Given the description of an element on the screen output the (x, y) to click on. 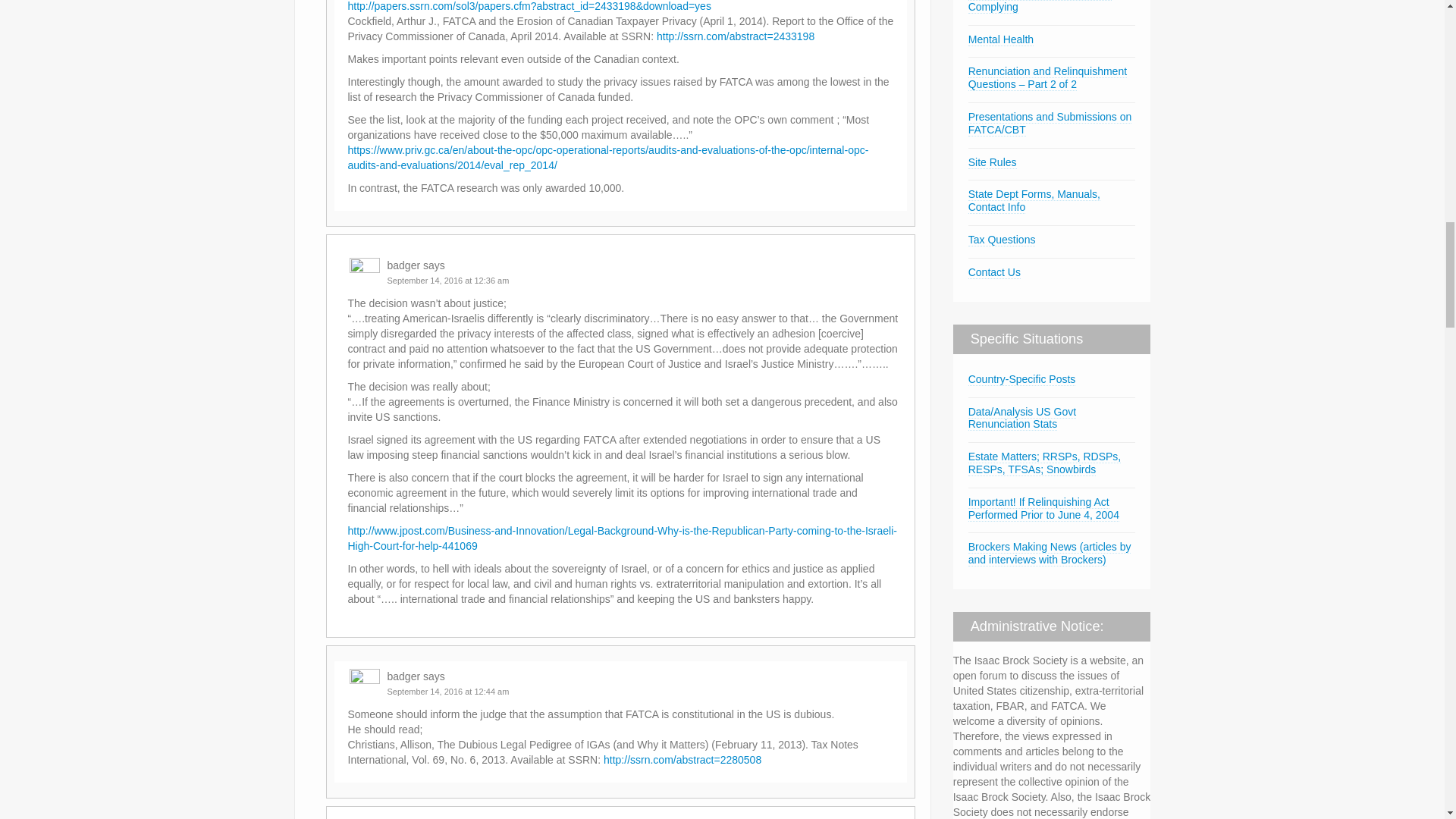
September 14, 2016 at 12:44 am (447, 691)
September 14, 2016 at 12:36 am (447, 280)
